Given the description of an element on the screen output the (x, y) to click on. 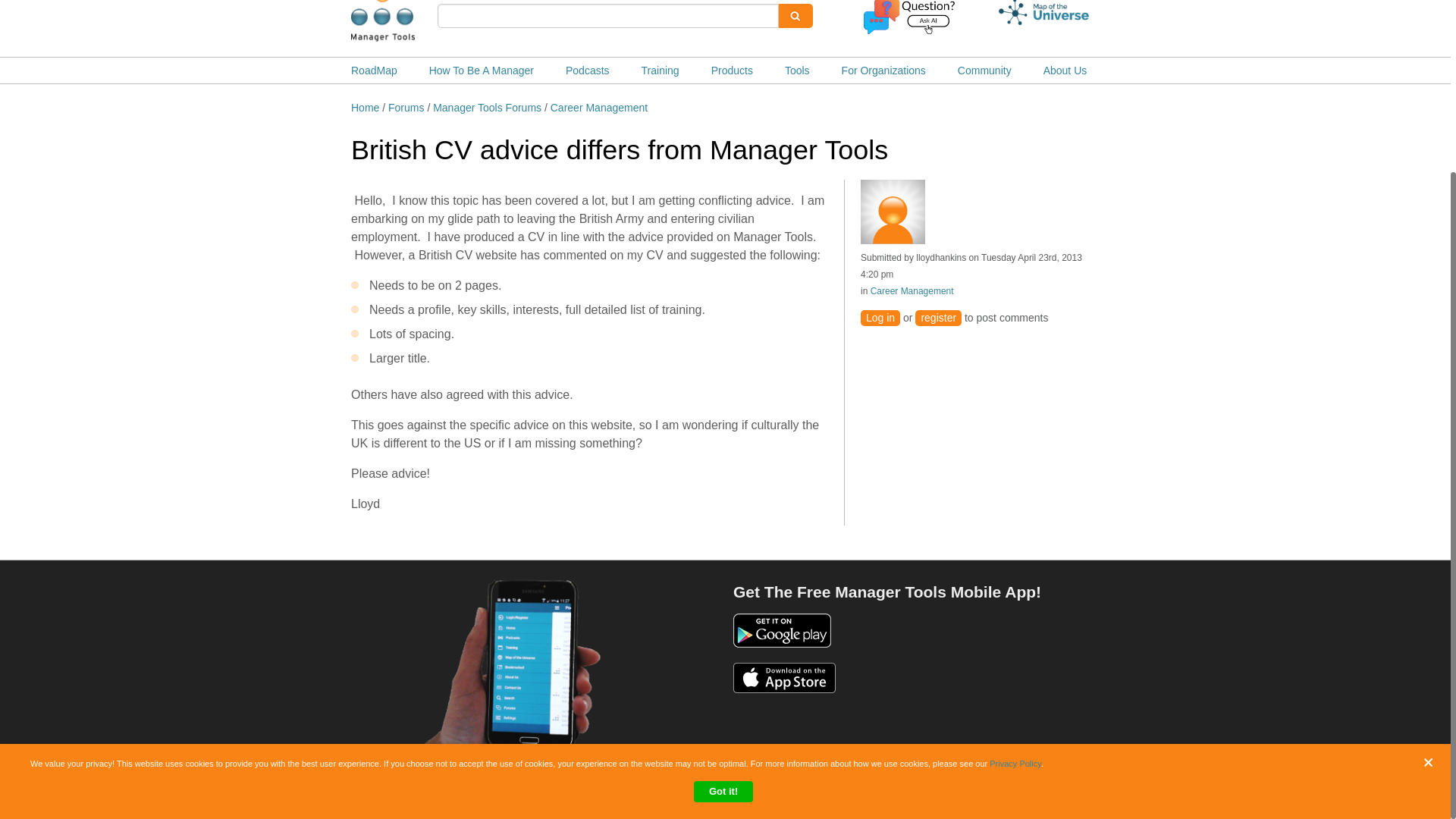
Search (795, 15)
Podcasts (588, 70)
Got it! (723, 573)
Search (795, 15)
Home (406, 22)
Training (660, 70)
About Cookie Control (37, 552)
About Cookie Control (37, 552)
Enter the terms you wish to search for. (608, 15)
Privacy Policy (1015, 545)
How To Be A Manager (481, 70)
Close (1431, 544)
RoadMap (373, 70)
